Given the description of an element on the screen output the (x, y) to click on. 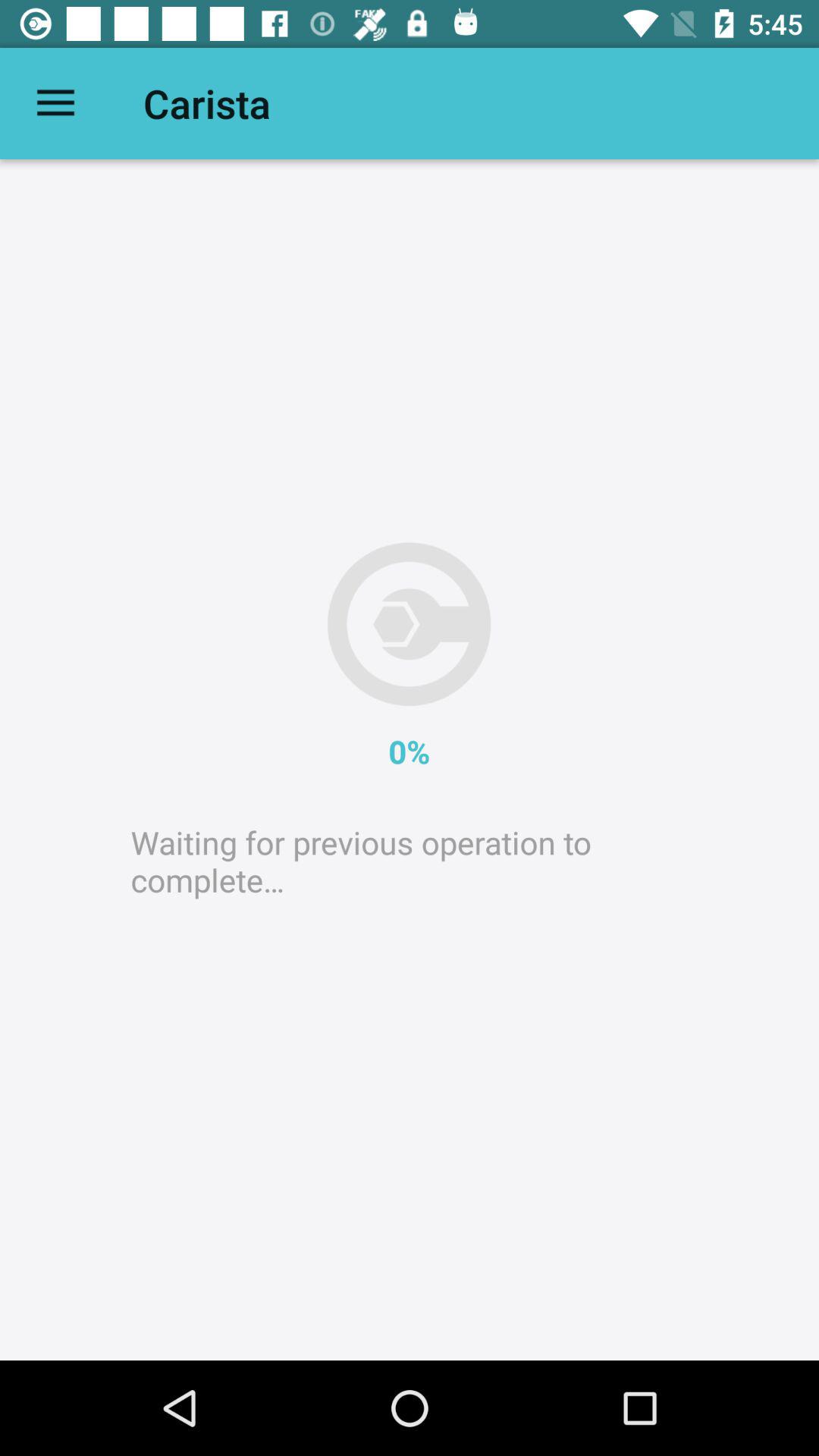
launch item next to carista (55, 103)
